Given the description of an element on the screen output the (x, y) to click on. 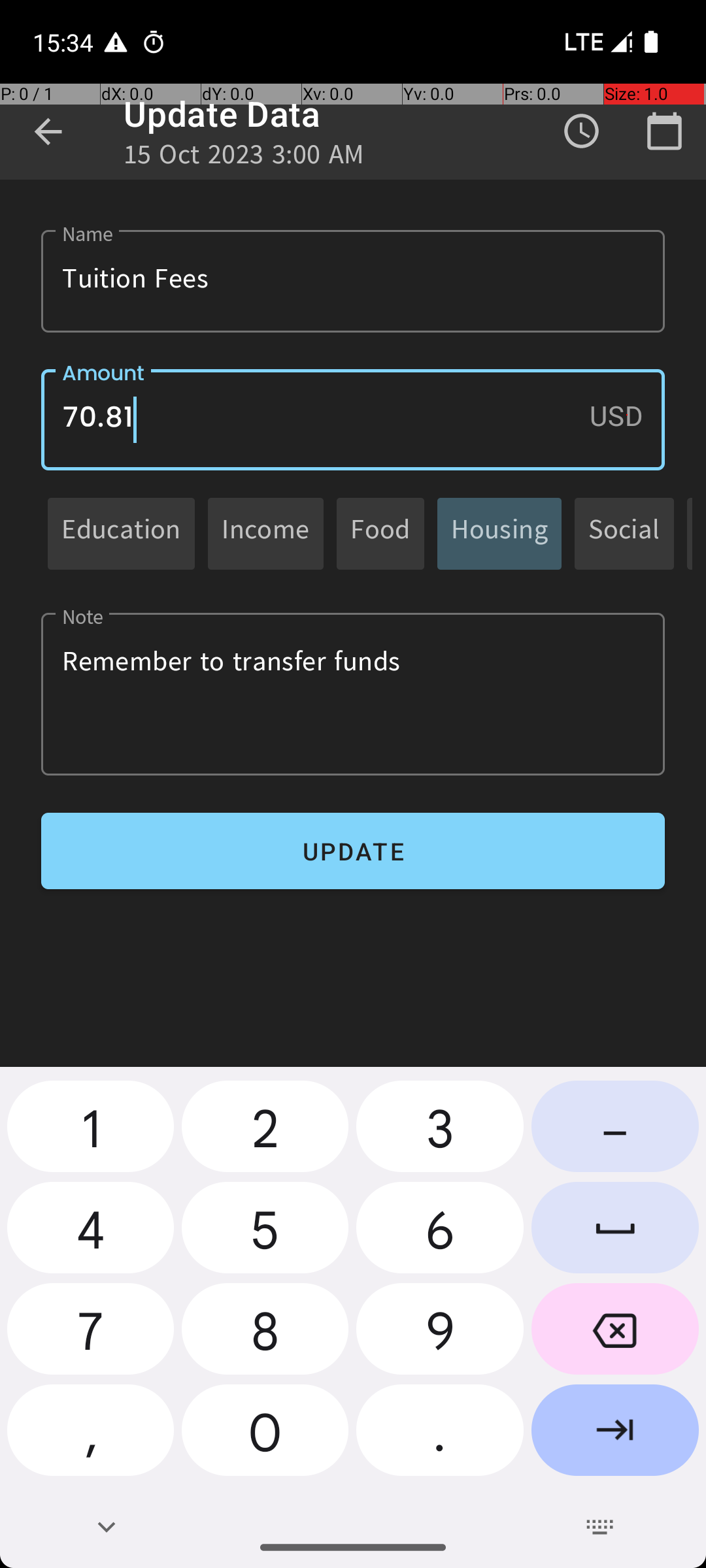
15 Oct 2023 3:00 AM Element type: android.widget.TextView (243, 157)
Tuition Fees Element type: android.widget.EditText (352, 280)
70.81 Element type: android.widget.EditText (352, 419)
Education Element type: android.widget.TextView (121, 533)
Dash Element type: android.widget.FrameLayout (614, 1130)
Next Element type: android.widget.FrameLayout (614, 1434)
